Given the description of an element on the screen output the (x, y) to click on. 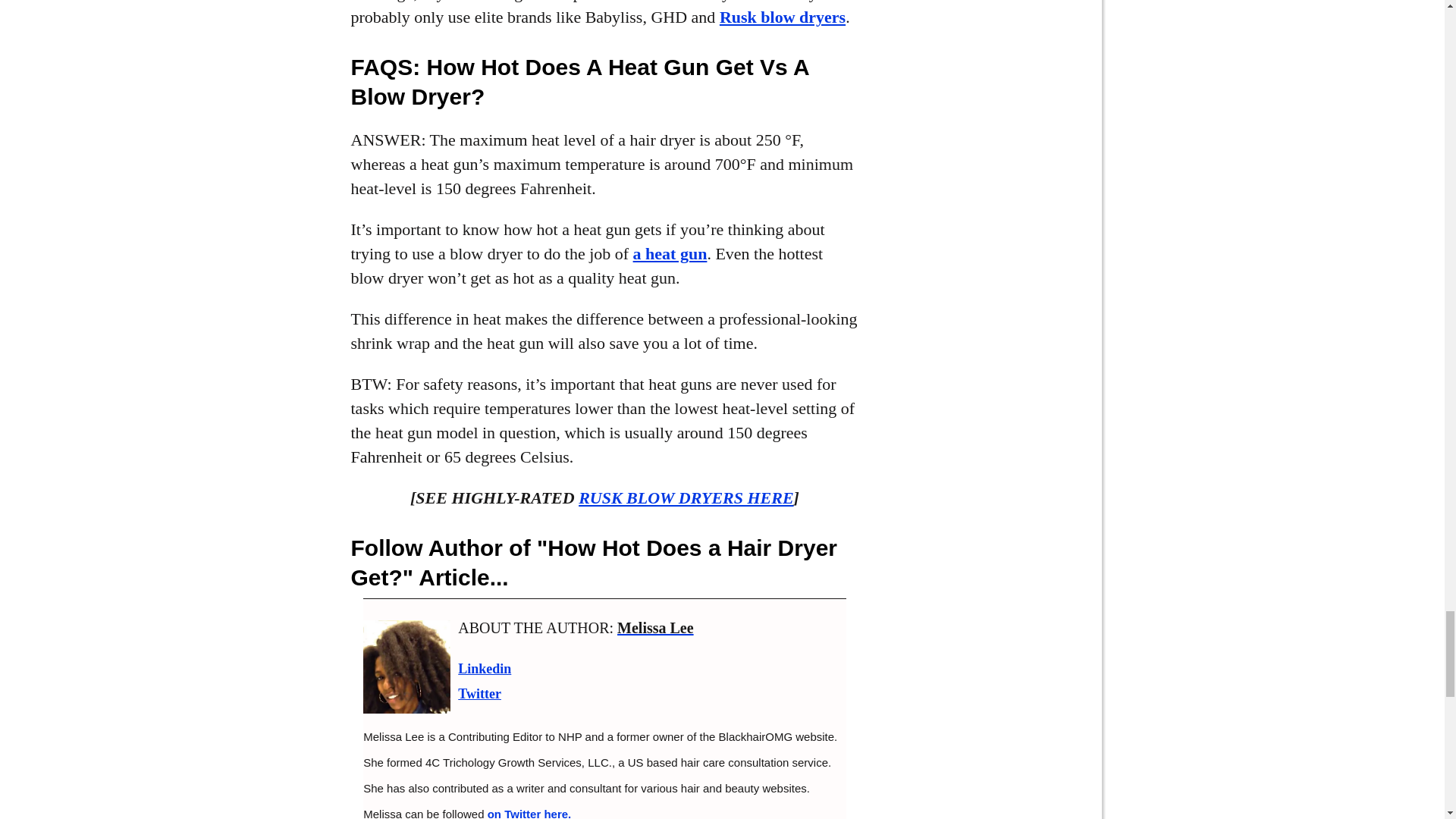
a heat gun (670, 253)
Linkedin (484, 668)
Melissa Lee (655, 627)
Twitter (479, 693)
Rusk blow dryers (782, 16)
RUSK BLOW DRYERS HERE (685, 497)
on Twitter here. (529, 813)
